Given the description of an element on the screen output the (x, y) to click on. 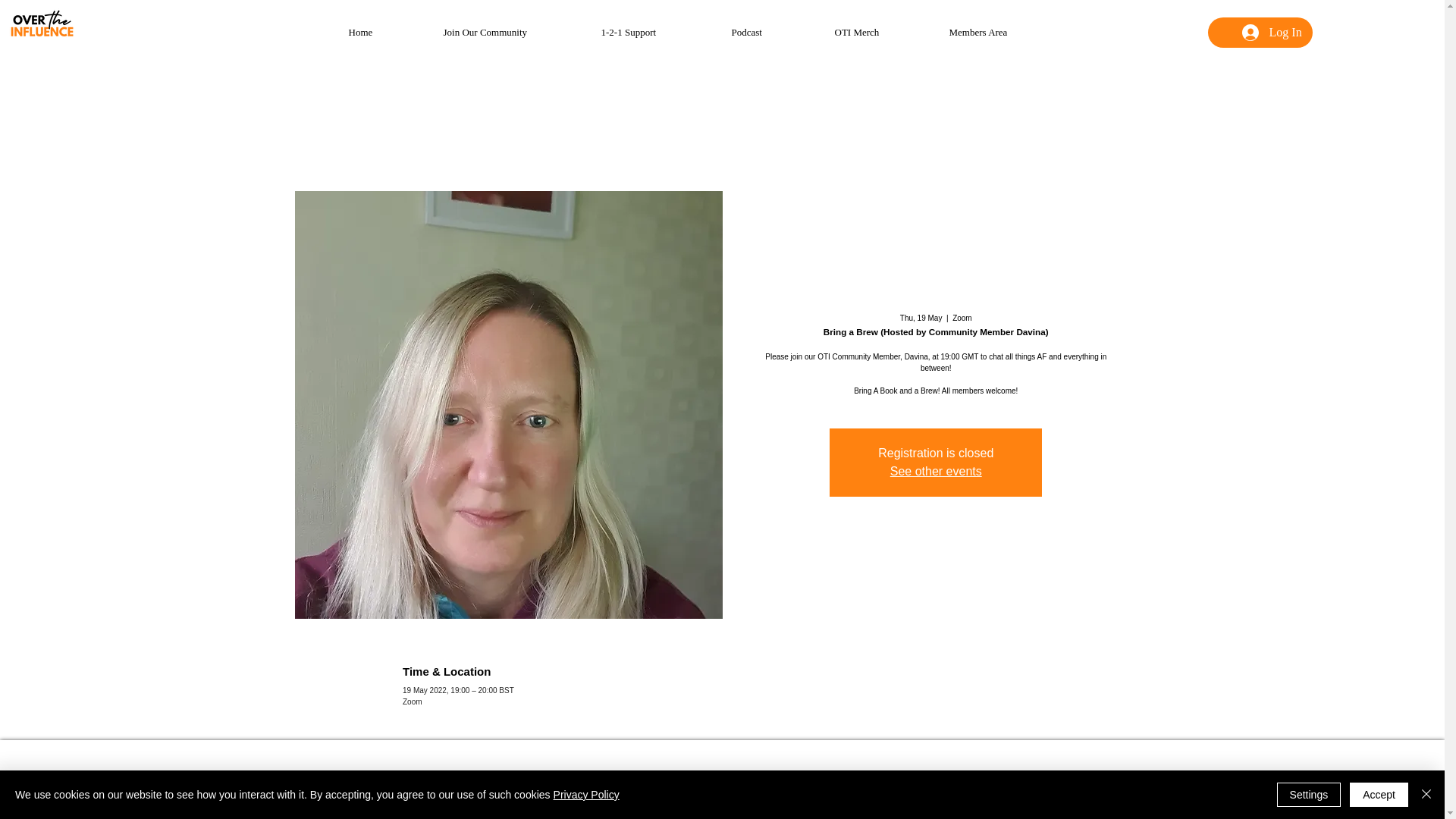
OTI Merch (880, 32)
1-2-1 Support (654, 32)
Log In (1272, 32)
Join Our Community (510, 32)
Podcast (772, 32)
See other events (935, 471)
Privacy Policy (586, 794)
Accept (1378, 794)
Settings (1308, 794)
OTI Website Logo.png (41, 24)
Home (383, 32)
